Given the description of an element on the screen output the (x, y) to click on. 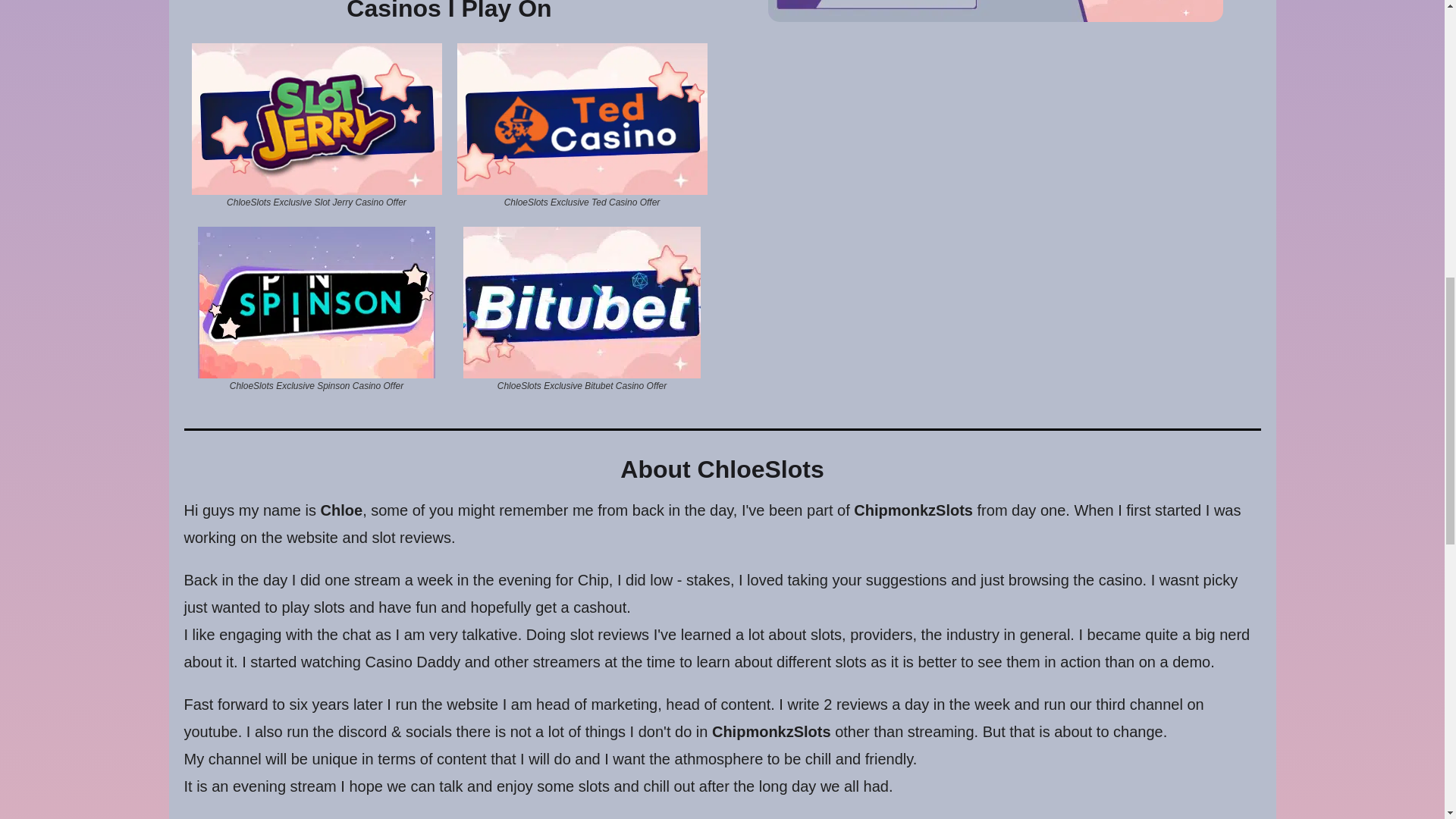
bitubetchloewebadlogoupdate (581, 300)
